Given the description of an element on the screen output the (x, y) to click on. 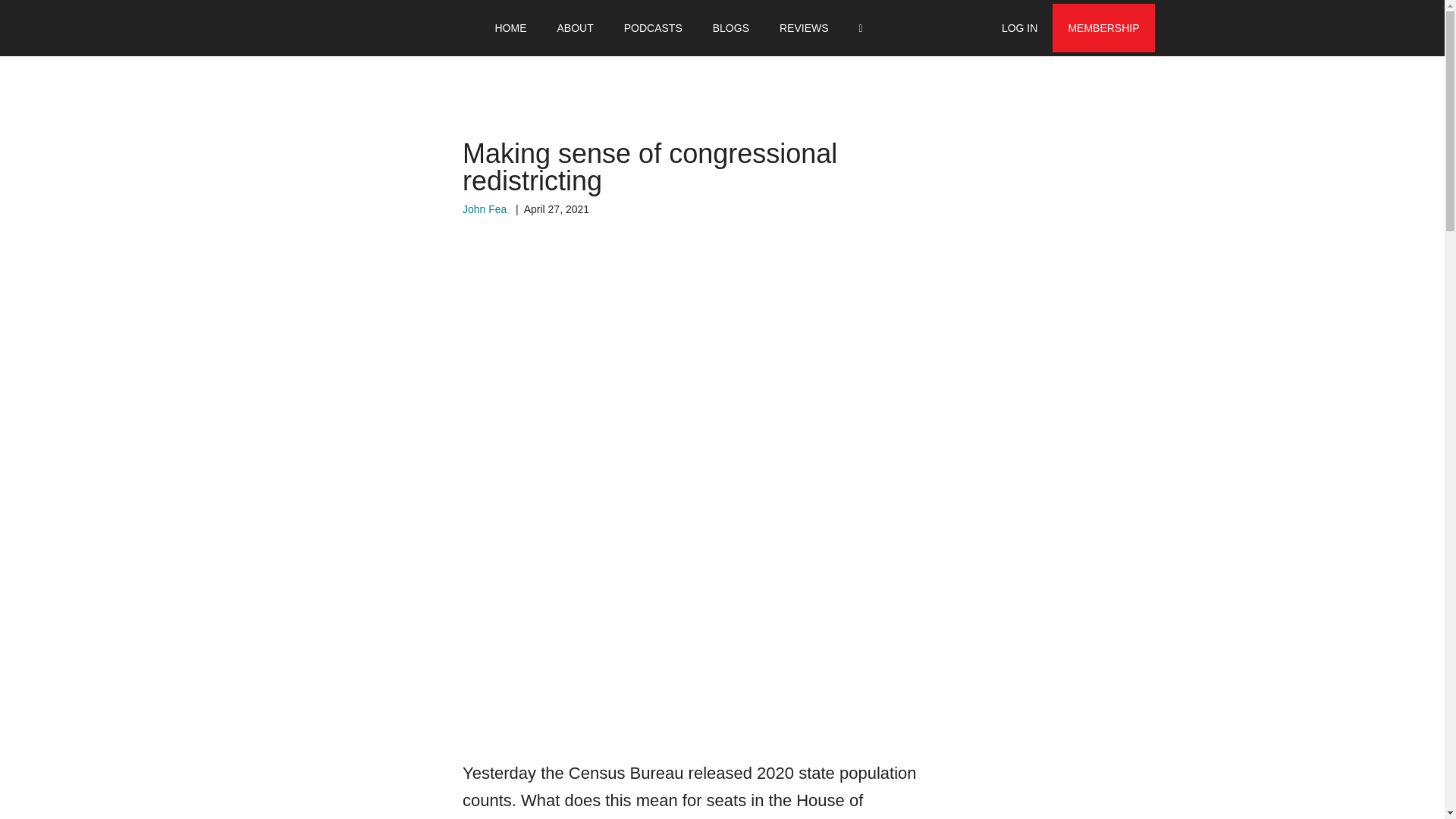
REVIEWS (804, 28)
MEDIA REQUESTS (808, 28)
BOOKS (628, 28)
MEMBERSHIP (1103, 28)
VITA (567, 28)
ABOUT JOHN (491, 28)
LOG IN (1019, 28)
John Fea (484, 209)
PODCASTS (652, 28)
HOME (510, 28)
BLOGS (730, 28)
SPEAKING (705, 28)
WAY OF IMPROVEMENT (365, 28)
ABOUT (574, 28)
